Given the description of an element on the screen output the (x, y) to click on. 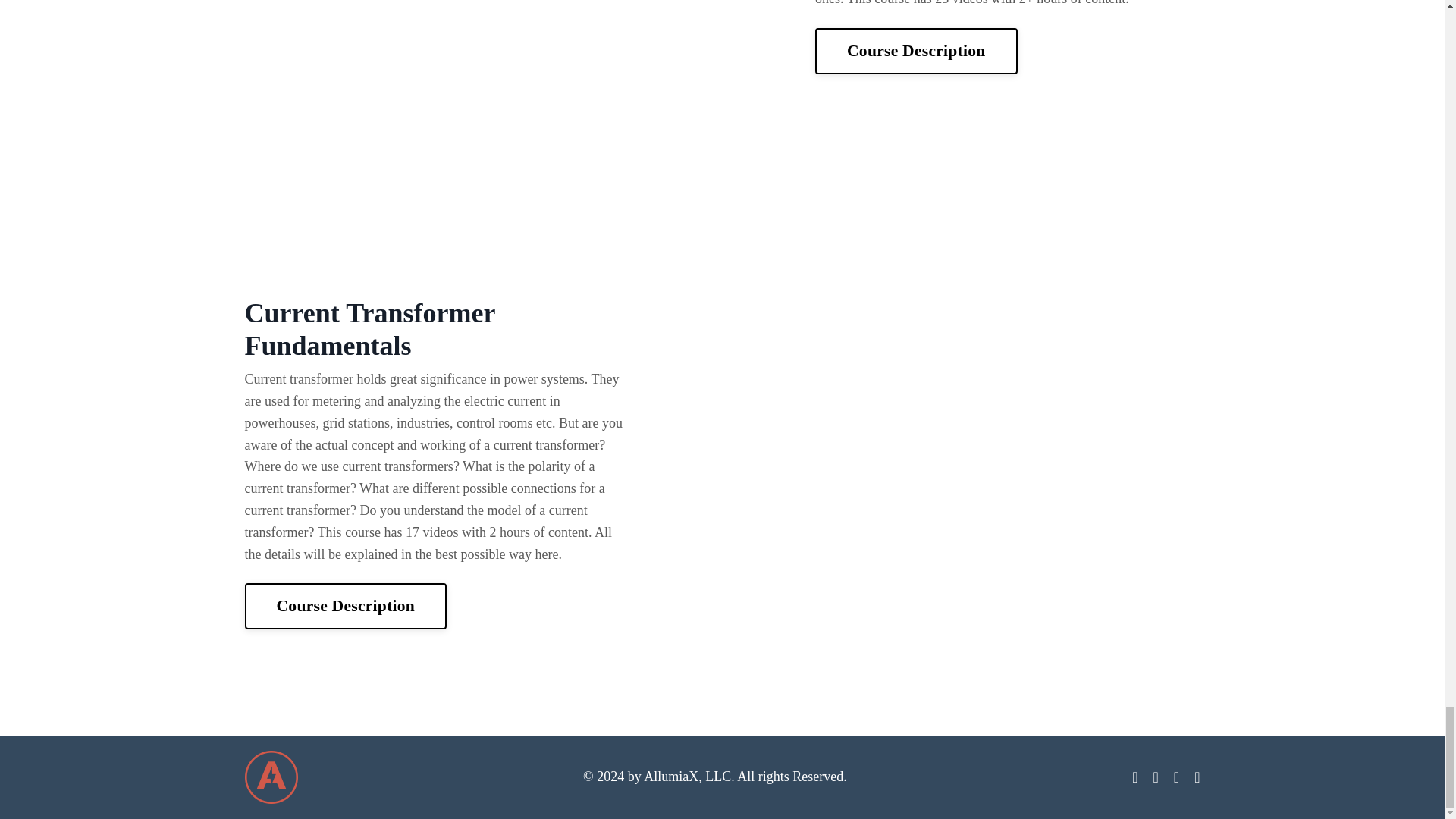
by AllumiaX, LLC. All rights Reserved. (737, 776)
Course Description (916, 50)
Course Description (345, 605)
